Given the description of an element on the screen output the (x, y) to click on. 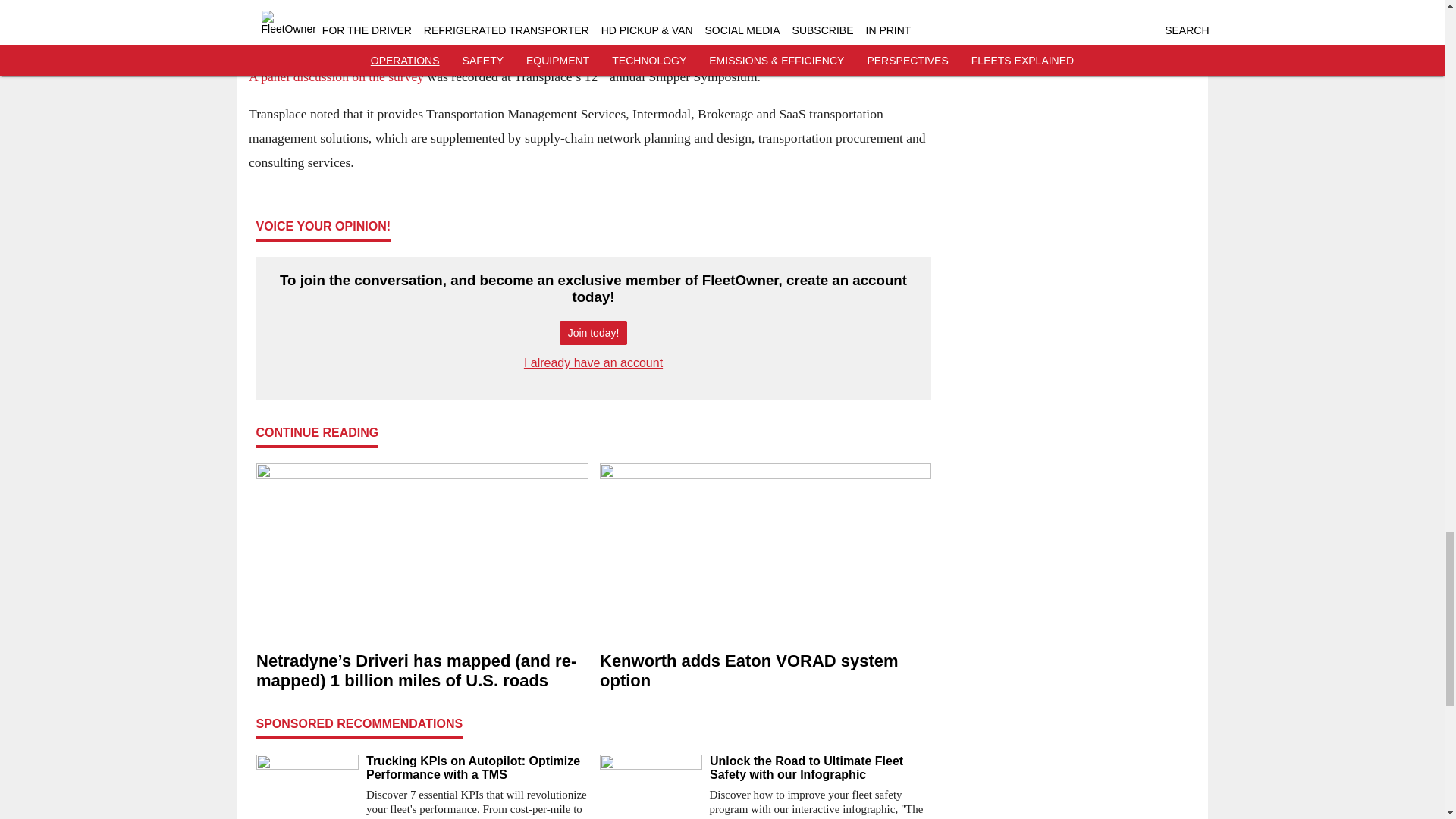
Kenworth adds Eaton VORAD system option (764, 671)
Join today! (593, 333)
Trucking KPIs on Autopilot: Optimize Performance with a TMS (476, 768)
I already have an account (593, 362)
A panel discussion on the survey (335, 76)
